Given the description of an element on the screen output the (x, y) to click on. 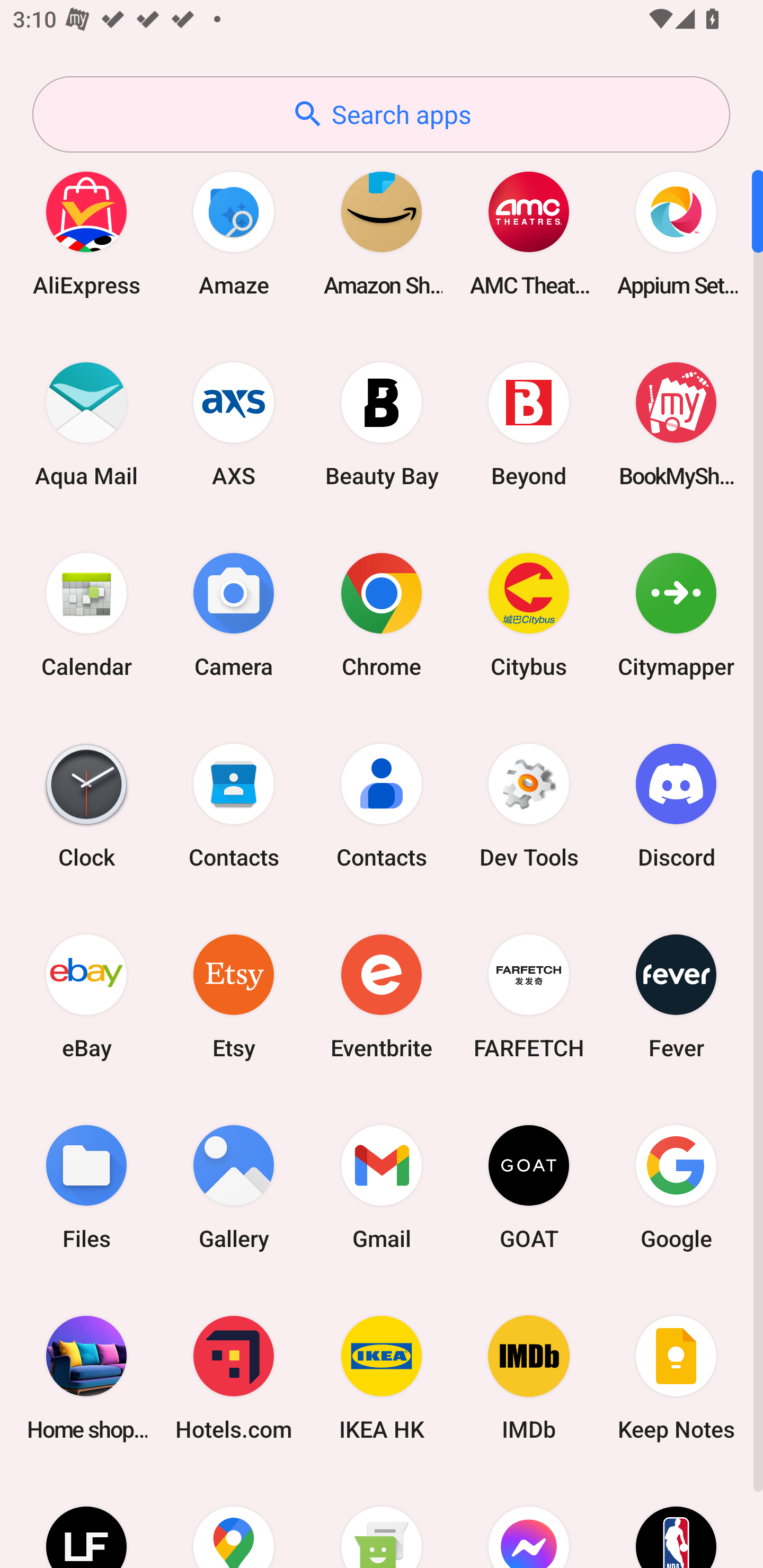
Citymapper (676, 614)
